Given the description of an element on the screen output the (x, y) to click on. 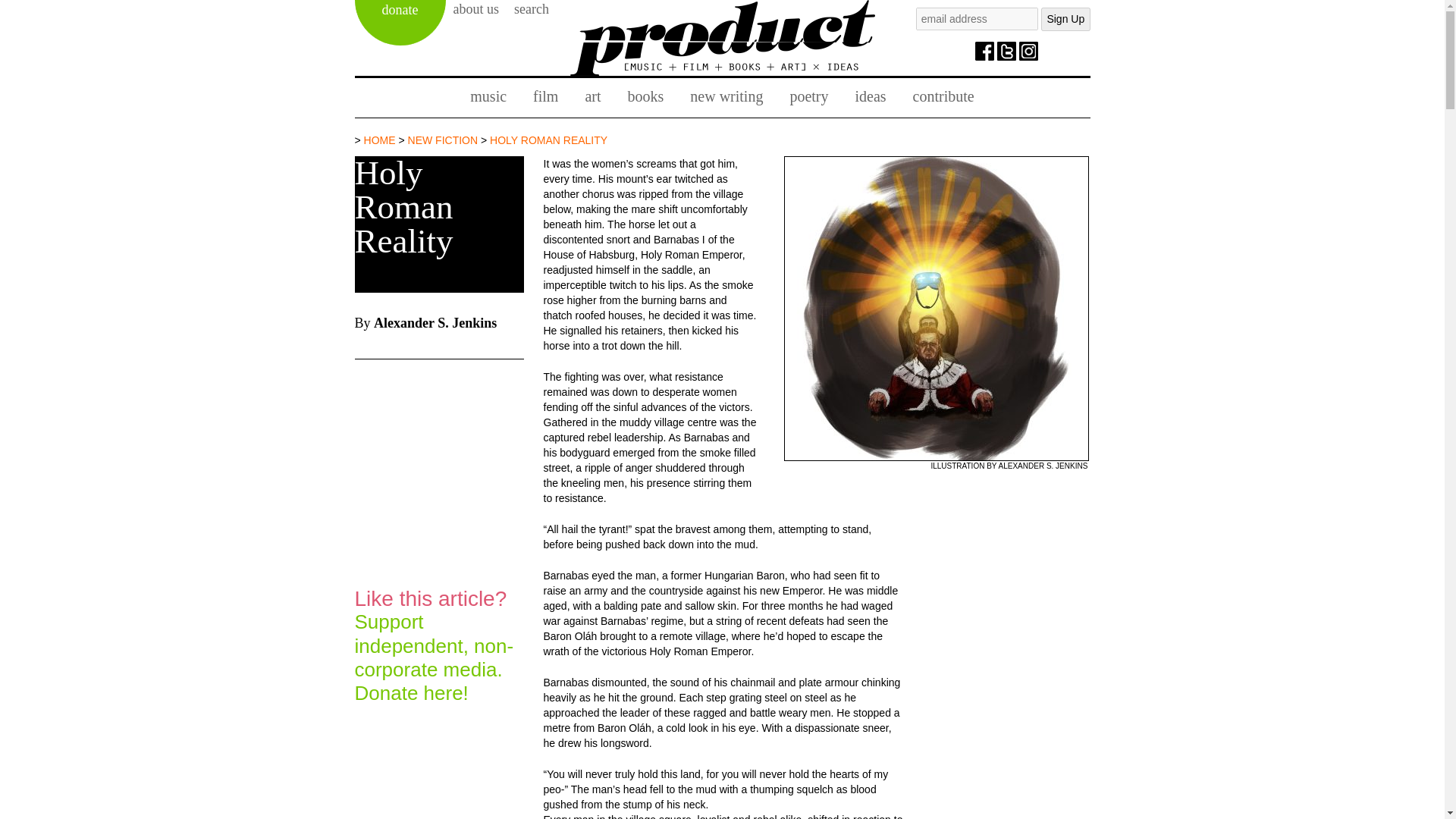
new fiction (443, 140)
ideas (869, 97)
poetry (808, 97)
film (545, 97)
HOME (380, 140)
Sign Up (1065, 19)
contribute (943, 97)
facebook (984, 50)
HOLY ROMAN REALITY (548, 140)
search (531, 11)
donate (400, 22)
Holy Roman Reality (548, 140)
art (592, 97)
twitter (1006, 50)
new writing (726, 97)
